Given the description of an element on the screen output the (x, y) to click on. 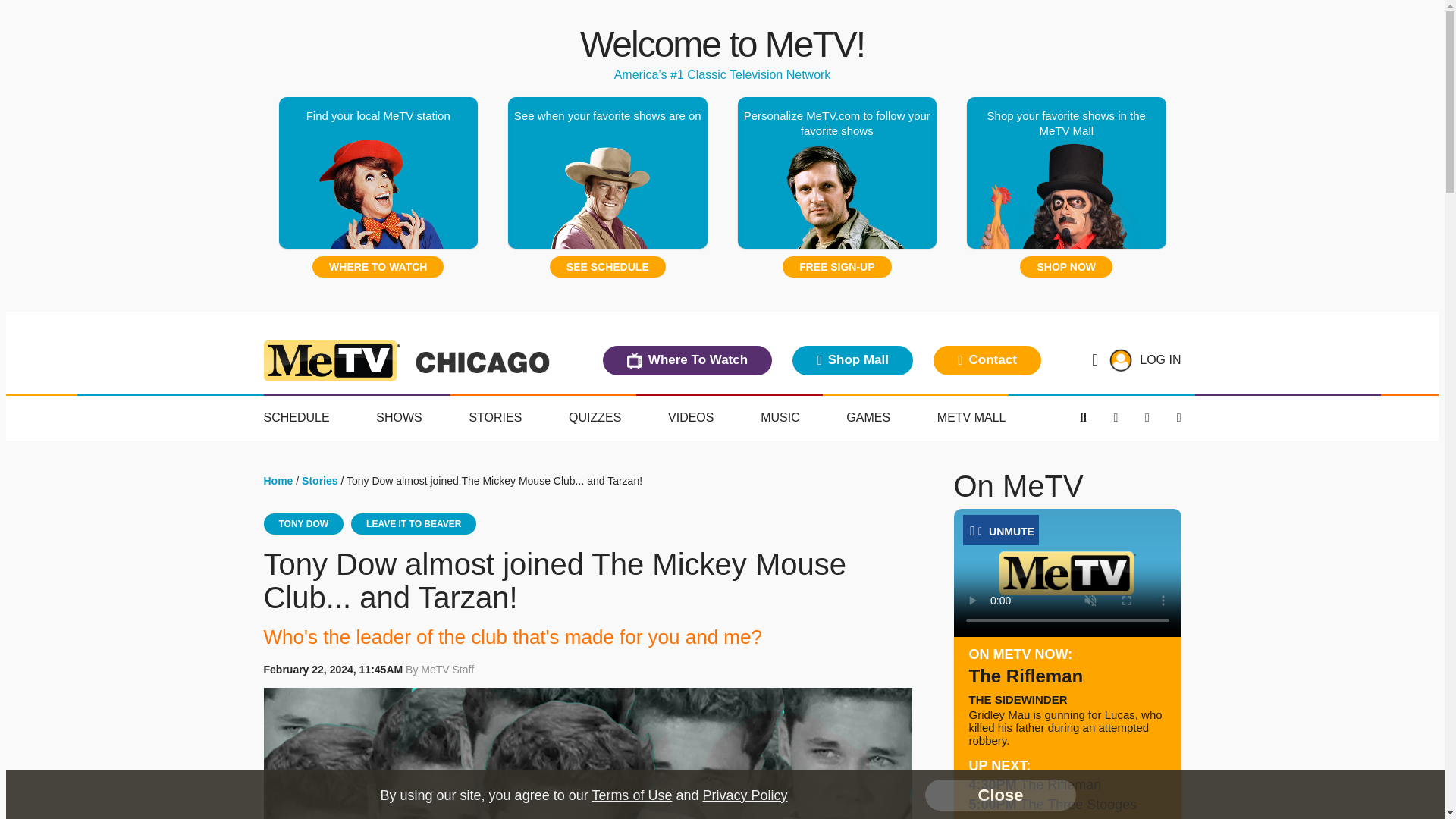
GAMES (867, 417)
WHERE TO WATCH (378, 266)
LOG IN (1160, 359)
SHOP NOW (1066, 266)
SEE SCHEDULE (607, 266)
Shop your favorite shows in the MeTV Mall (1066, 172)
QUIZZES (595, 417)
MUSIC (779, 417)
VIDEOS (690, 417)
Where To Watch (686, 360)
